Given the description of an element on the screen output the (x, y) to click on. 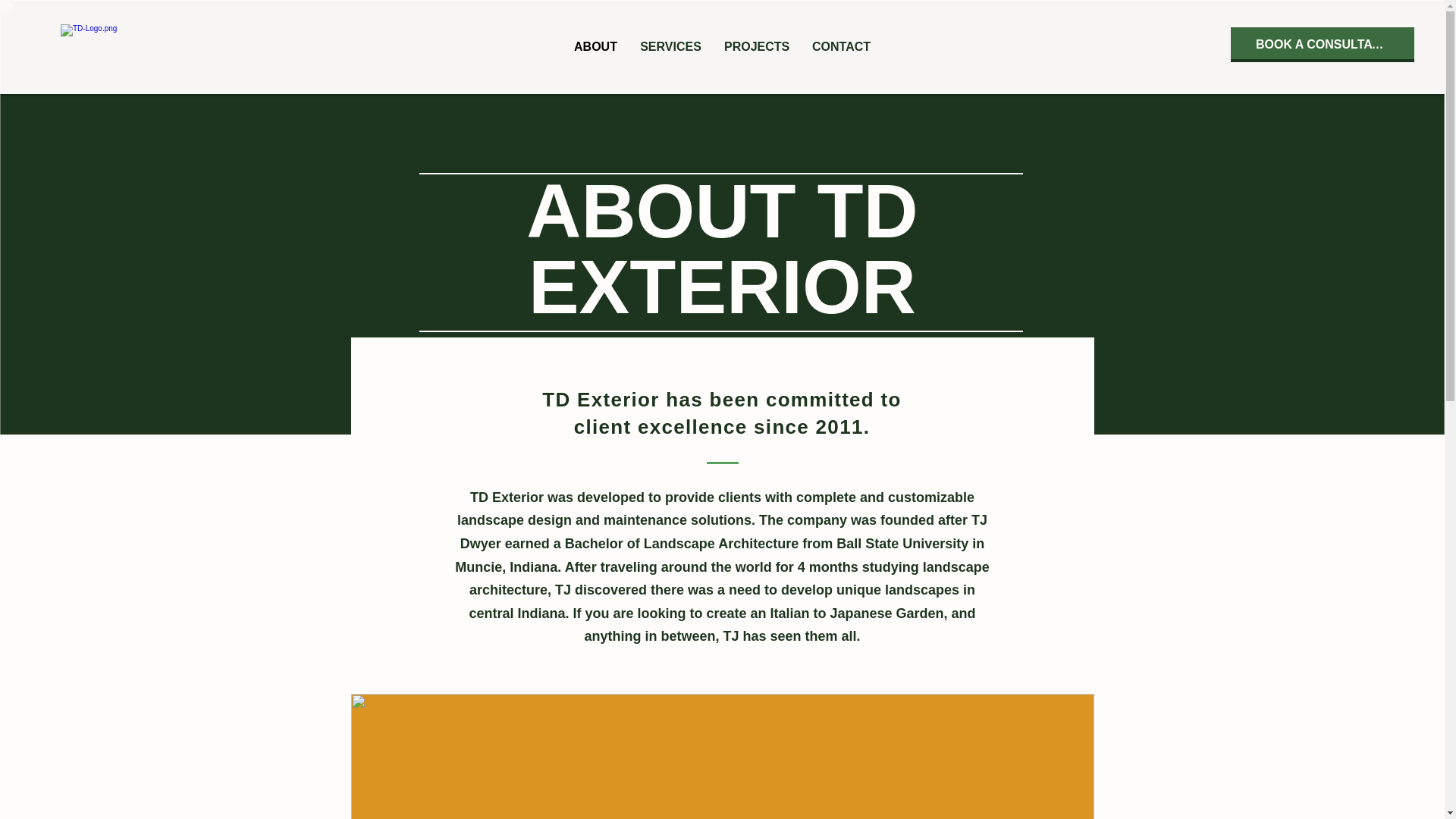
BOOK A CONSULTATION (1321, 42)
PROJECTS (756, 46)
CONTACT (841, 46)
SERVICES (670, 46)
ABOUT (595, 46)
